Given the description of an element on the screen output the (x, y) to click on. 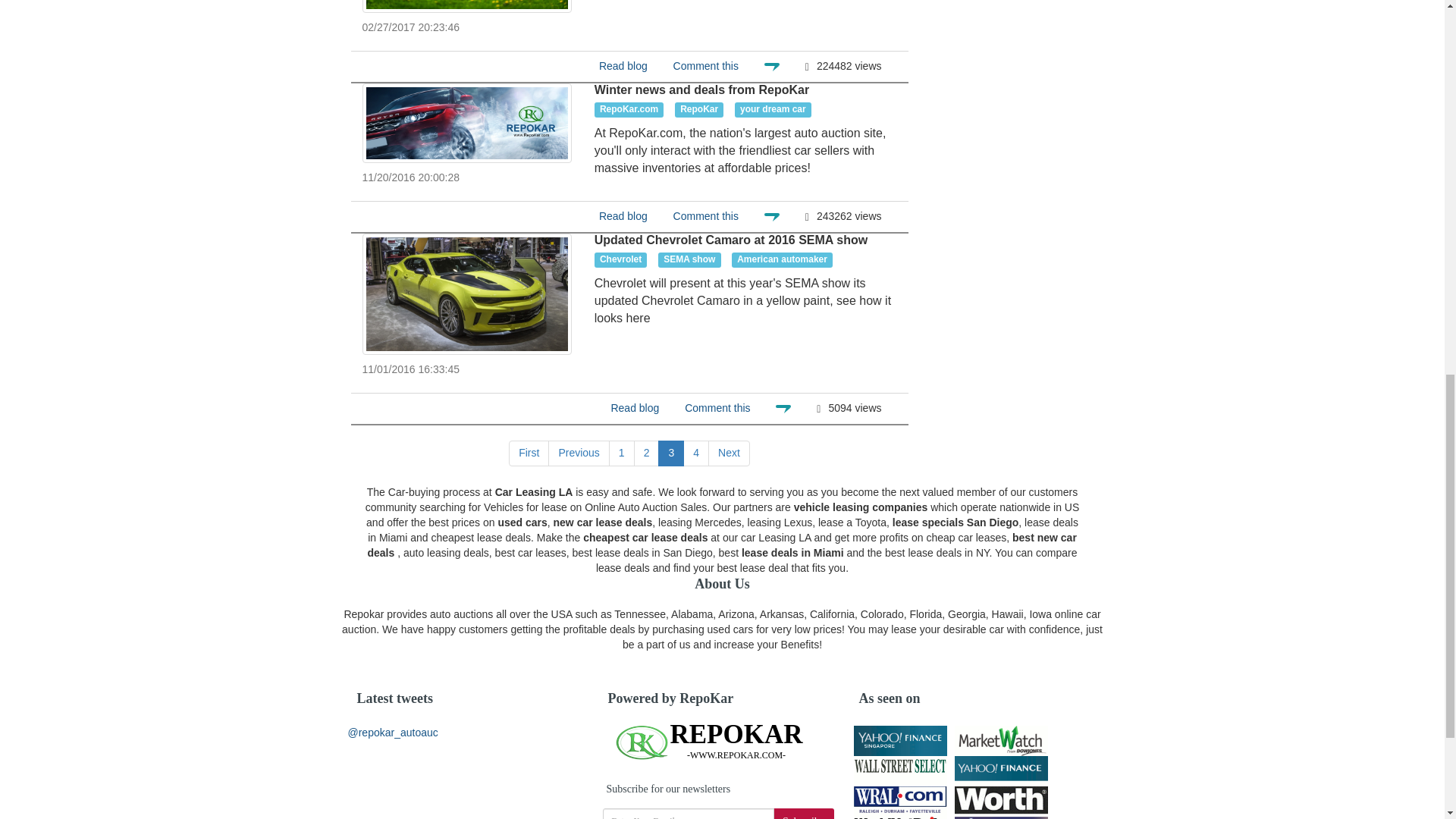
SEMA show (689, 259)
Comment this (705, 65)
Chevrolet (620, 259)
RepoKar (699, 109)
Read blog (634, 408)
Comment this (705, 215)
Read blog (622, 215)
RepoKar.com (628, 109)
Read blog (622, 65)
